Given the description of an element on the screen output the (x, y) to click on. 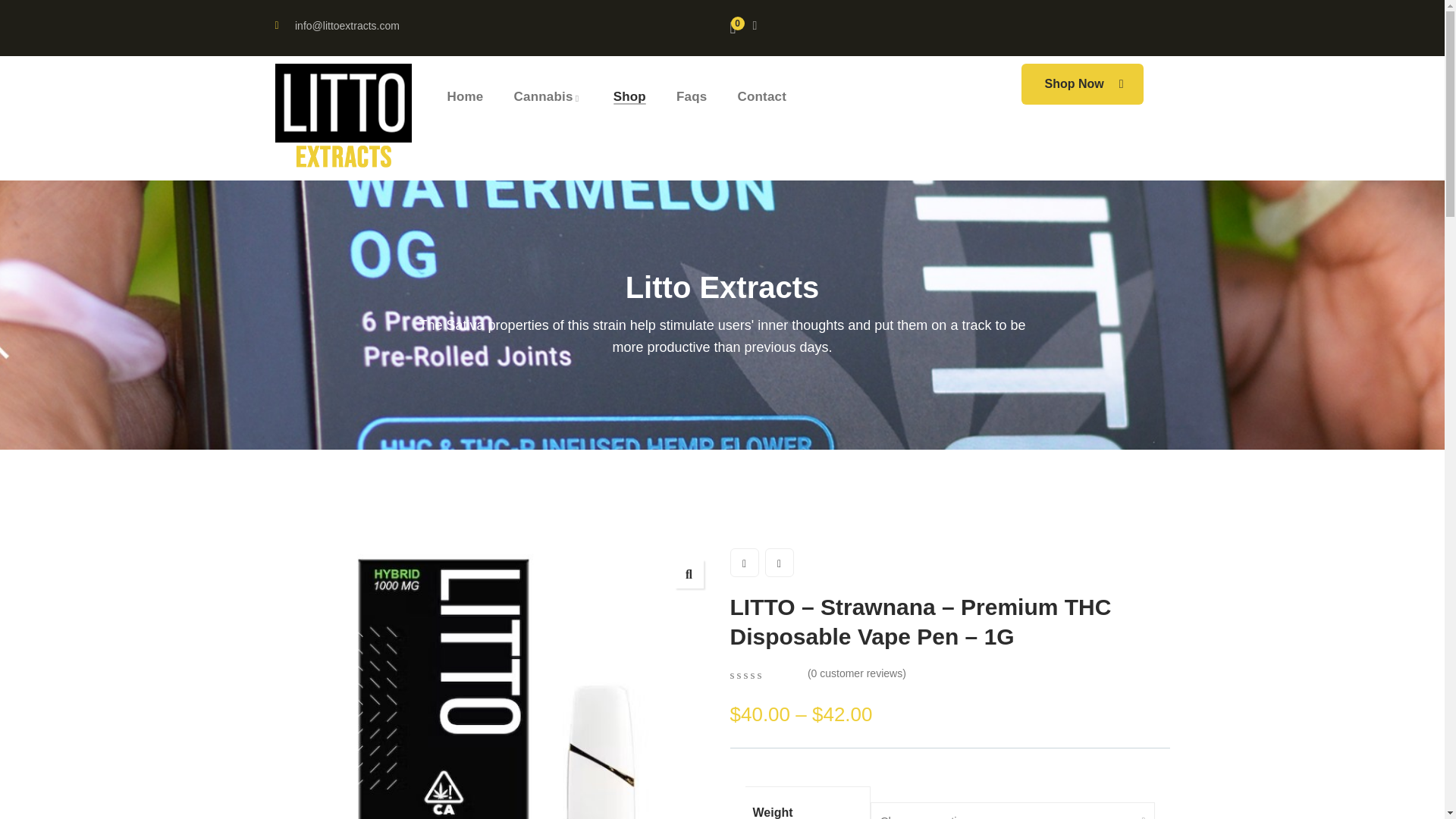
Shop (629, 97)
Home (342, 117)
Contact (761, 97)
Home (464, 97)
Rated 0 out of 5 (764, 674)
View your shopping cart (734, 27)
0 (734, 27)
Cannabis (548, 97)
Faqs (691, 97)
Shop Now (1082, 83)
